Given the description of an element on the screen output the (x, y) to click on. 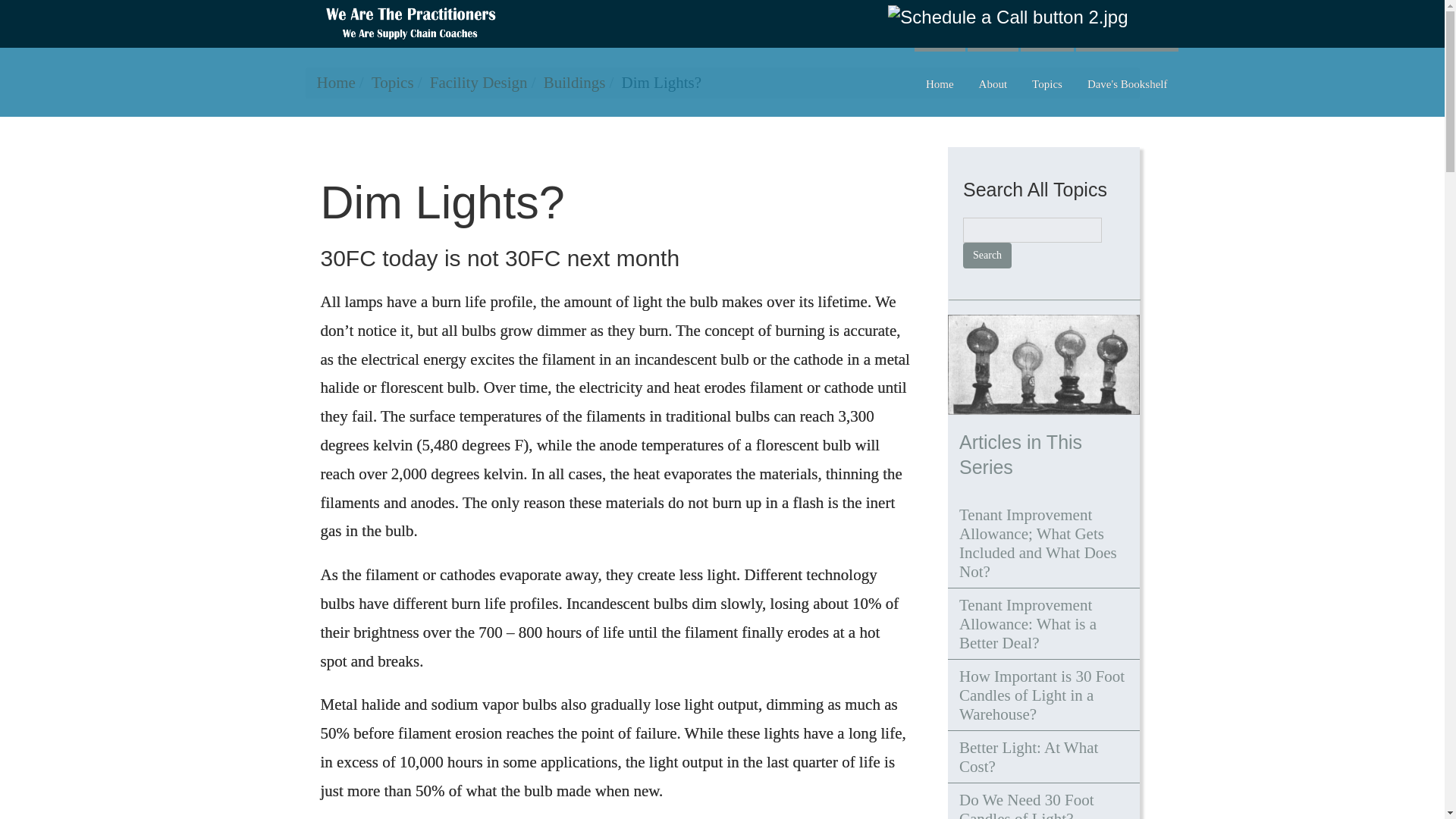
Search (986, 255)
Search (986, 255)
Tenant Improvement Allowance: What is a Better Deal? (1043, 623)
Topics (392, 82)
Search (986, 255)
Buildings (574, 82)
Facility Design (478, 82)
How Important is 30 Foot Candles of Light in a Warehouse? (1043, 695)
Home (336, 82)
Dave's Bookshelf (1127, 82)
